Given the description of an element on the screen output the (x, y) to click on. 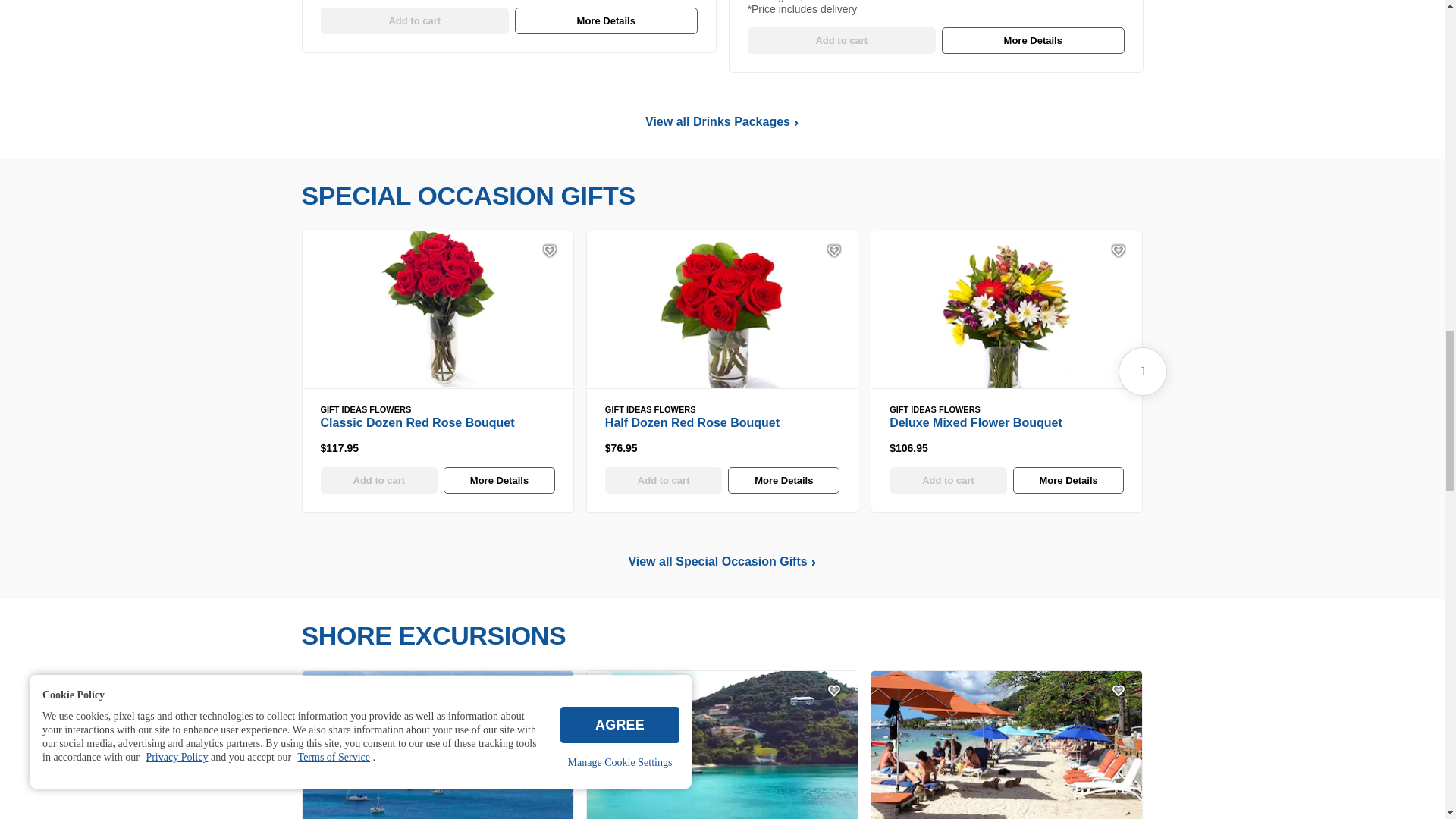
Deluxe Mixed Flower Bouquet (1005, 309)
Half Dozen Red Rose Bouquet (721, 309)
Classic Dozen Red Rose Bouquet (436, 309)
